Given the description of an element on the screen output the (x, y) to click on. 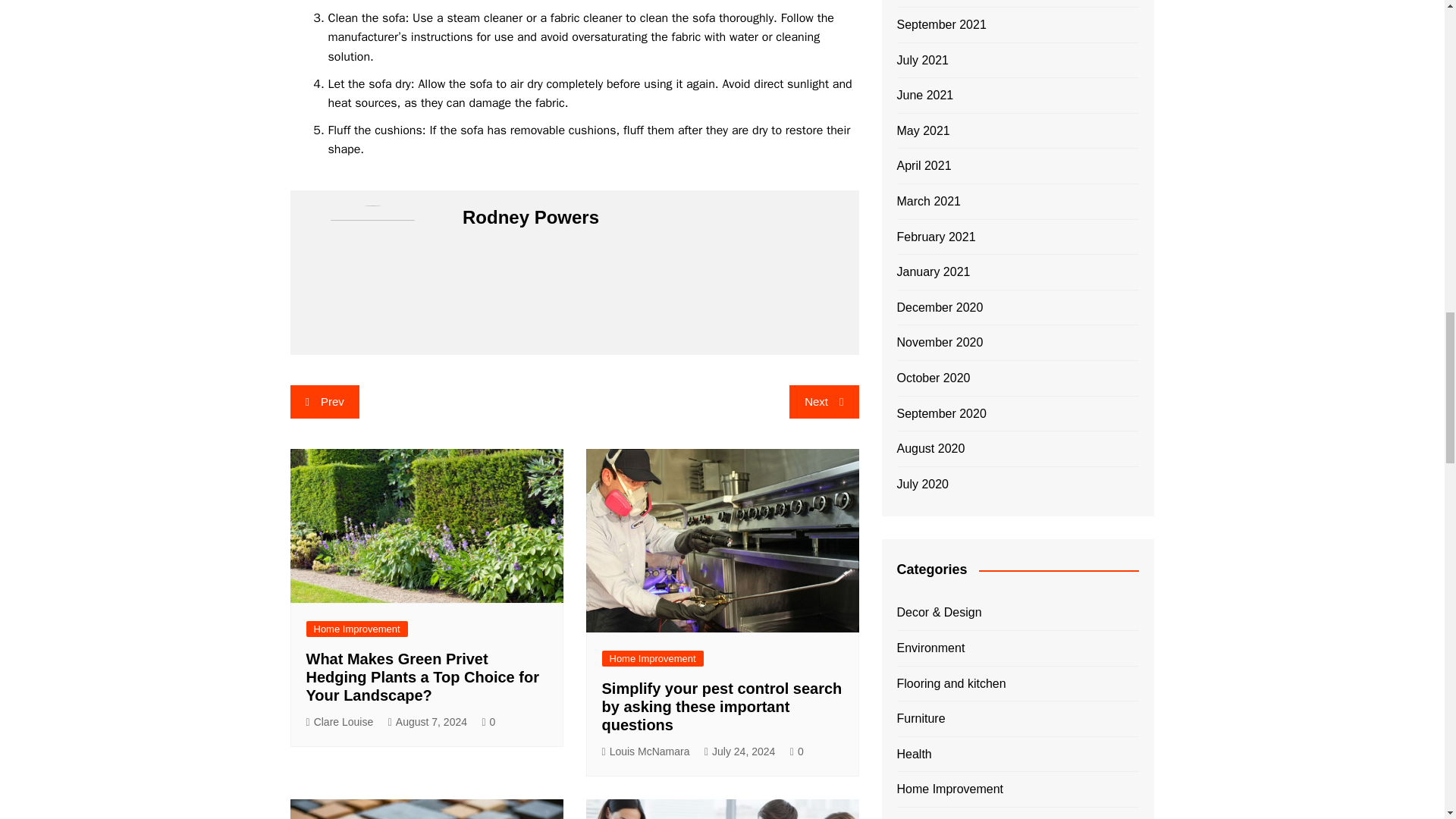
Home Improvement (652, 658)
Louis McNamara (646, 751)
Clare Louise (339, 722)
Home Improvement (356, 628)
Prev (323, 401)
August 7, 2024 (427, 722)
Next (824, 401)
July 24, 2024 (739, 751)
